Given the description of an element on the screen output the (x, y) to click on. 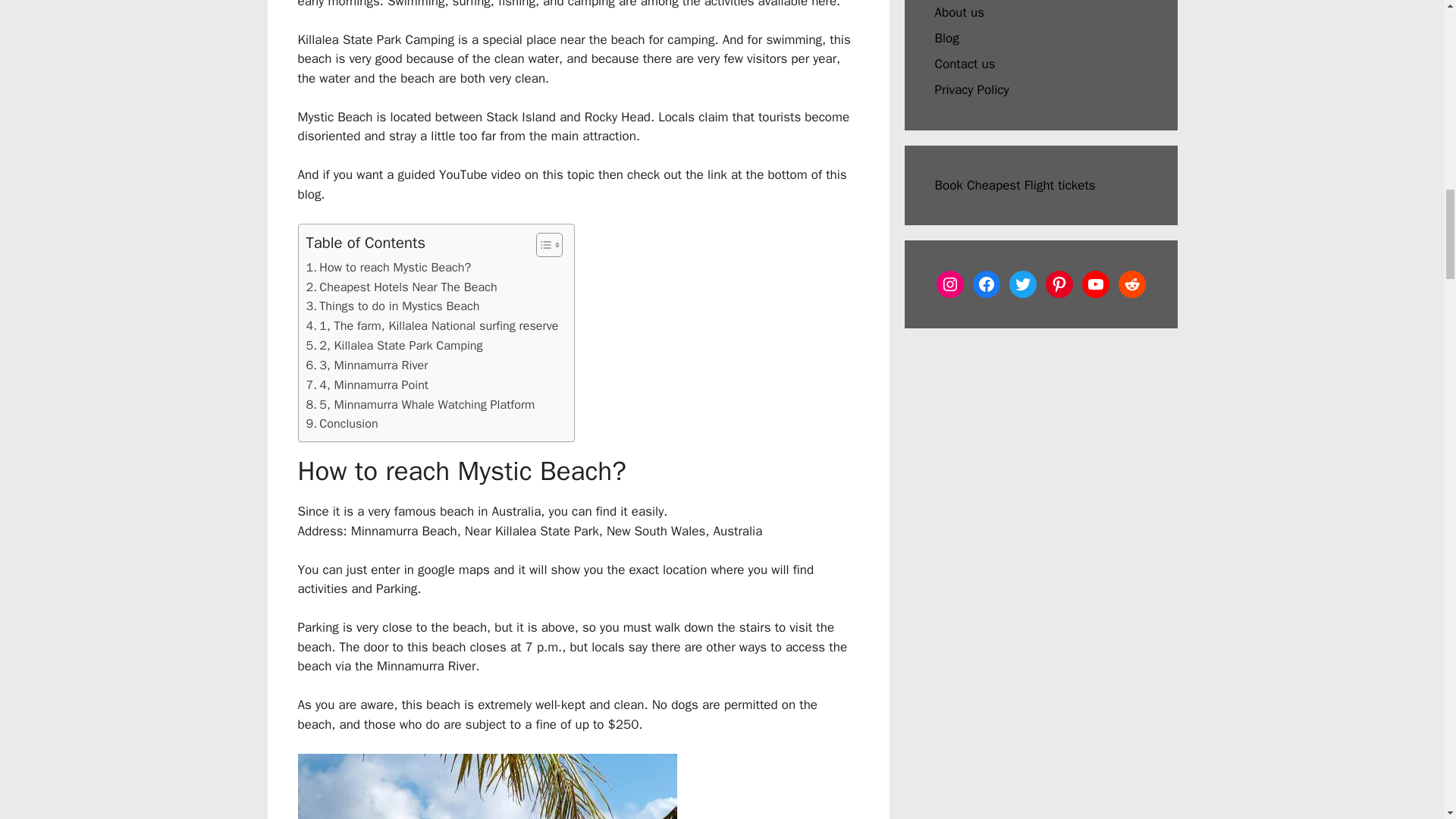
5, Minnamurra Whale Watching Platform (420, 404)
2, Killalea State Park Camping (394, 345)
3, Minnamurra River (366, 365)
4, Minnamurra Point (367, 384)
2, Killalea State Park Camping (394, 345)
Things to do in Mystics Beach (392, 306)
How to reach Mystic Beach? (388, 267)
1, The farm, Killalea National surfing reserve (432, 325)
Things to do in Mystics Beach (392, 306)
How to reach Mystic Beach? (388, 267)
